Given the description of an element on the screen output the (x, y) to click on. 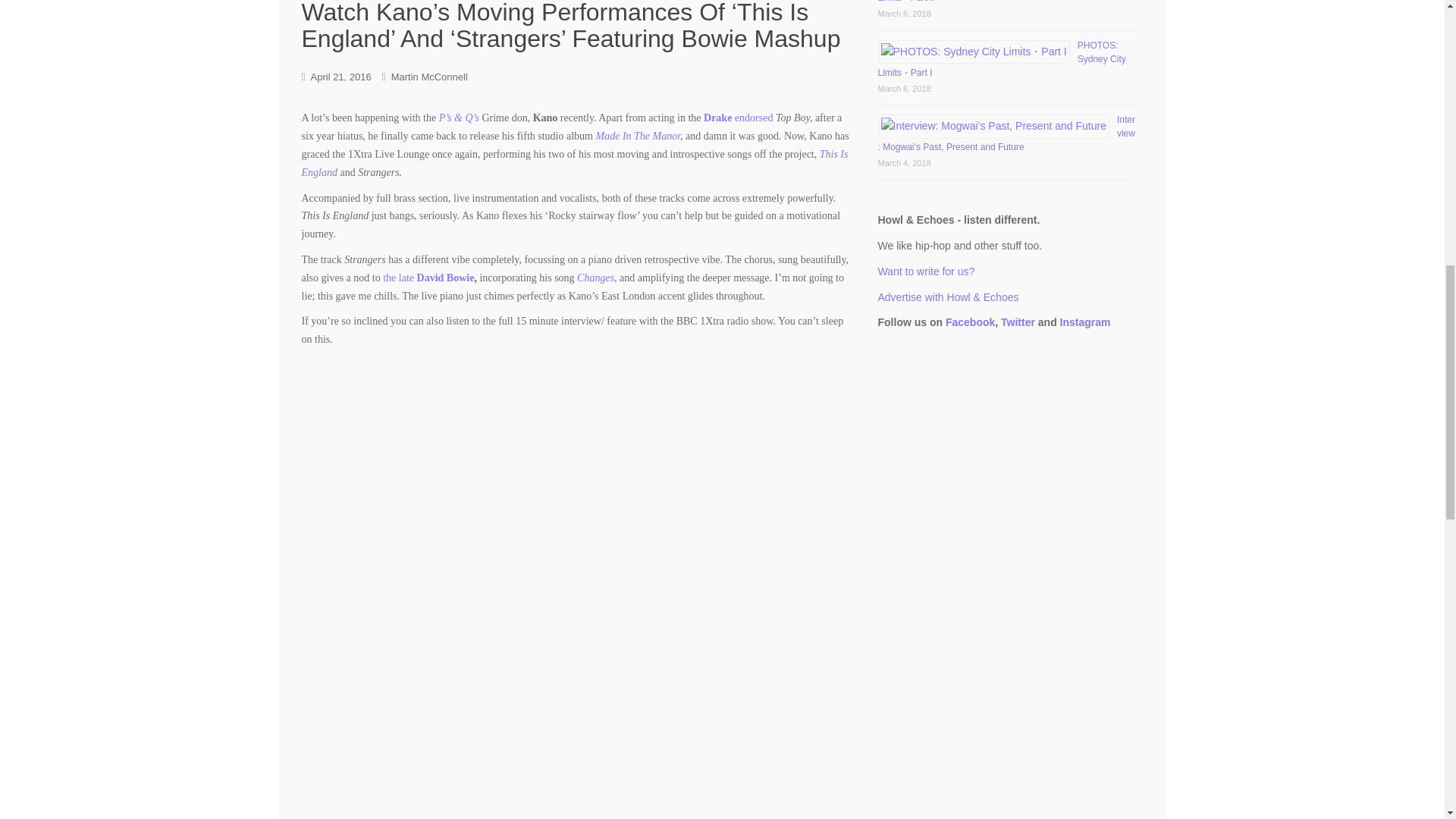
April 21, 2016 (341, 76)
Martin McConnell (429, 76)
Drake endorsed (739, 117)
